Given the description of an element on the screen output the (x, y) to click on. 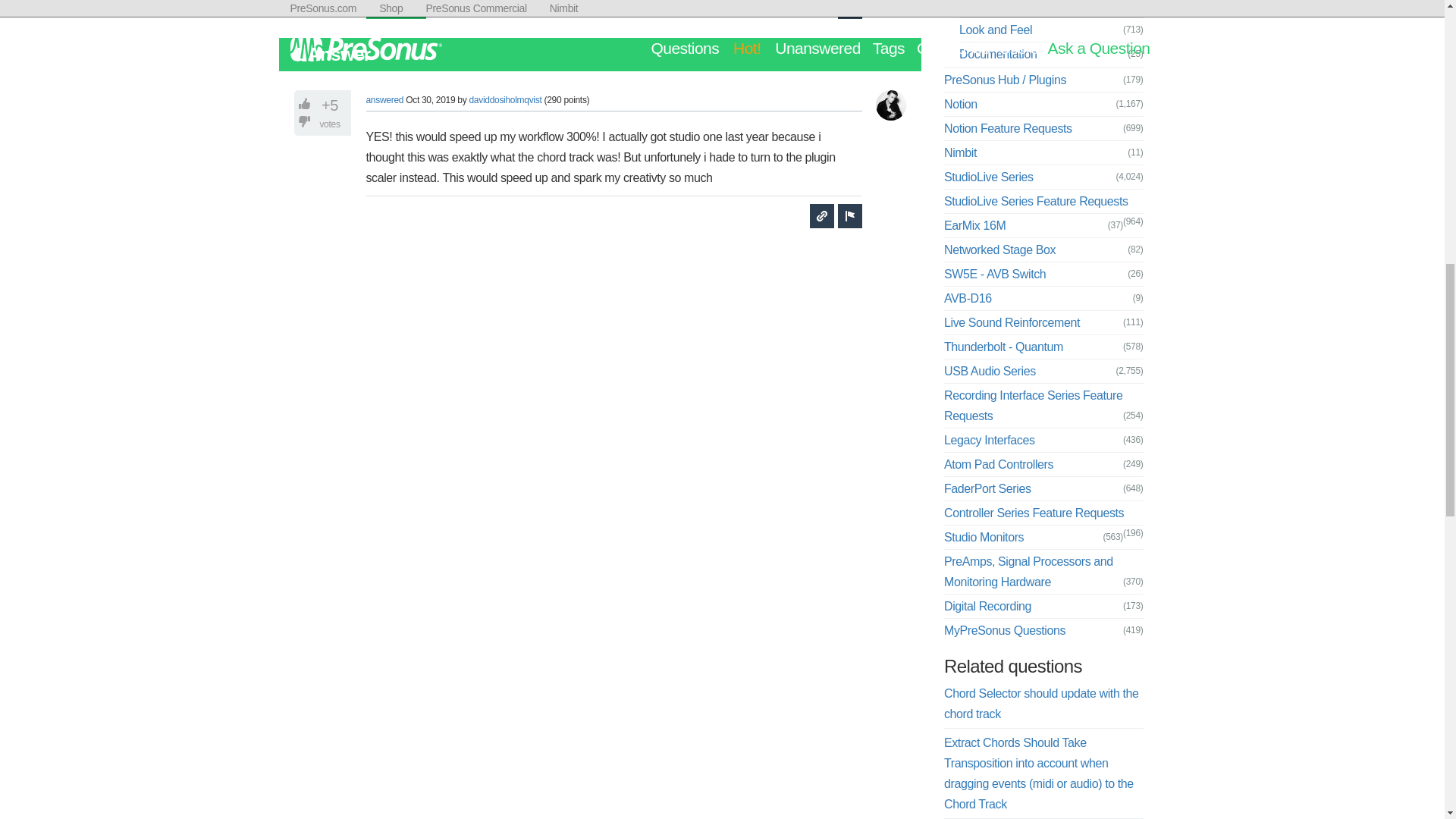
Flag this question as spam or inappropriate (849, 9)
flag (849, 215)
flag (849, 9)
Ask a new question relating to this answer (821, 215)
Flag this answer as spam or inappropriate (849, 215)
answer (395, 9)
Click to vote up (306, 103)
Click to vote down (306, 120)
Answer this question (395, 9)
flag (849, 9)
ask related question (821, 215)
answer (395, 9)
answered (384, 99)
daviddosiholmqvist (504, 99)
